Given the description of an element on the screen output the (x, y) to click on. 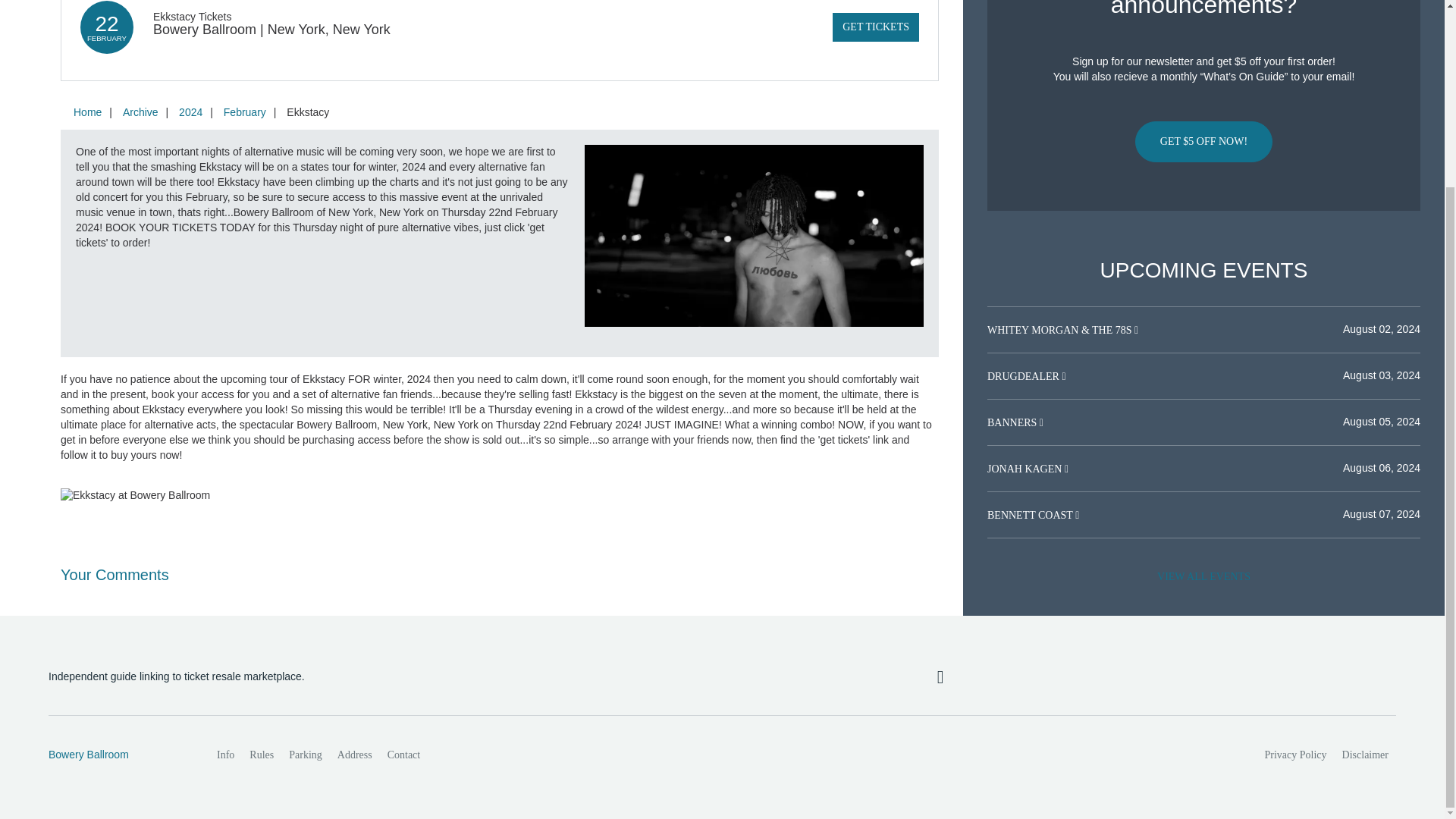
GET TICKETS (875, 27)
VIEW ALL EVENTS (1203, 576)
Rules (261, 755)
Home (87, 111)
Disclaimer (1365, 755)
Info (225, 755)
Bowery Ballroom (116, 754)
February (244, 111)
2024 (190, 111)
Parking (305, 755)
Archive (140, 111)
Address (355, 755)
Privacy Policy (1296, 755)
Ekkstacy Tickets (191, 16)
Contact (404, 755)
